Given the description of an element on the screen output the (x, y) to click on. 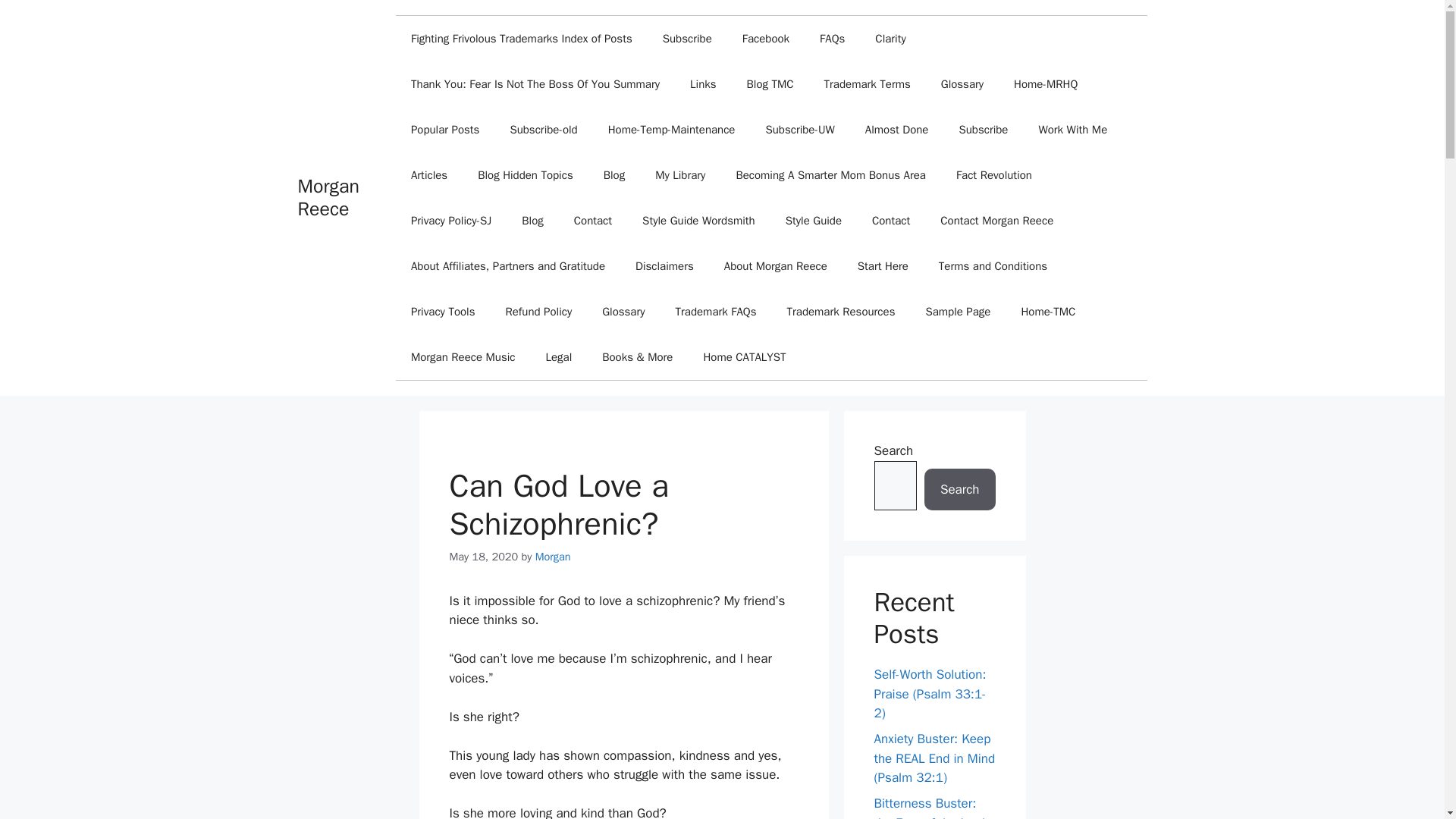
Style Guide (813, 220)
FAQs (832, 38)
Home-MRHQ (1045, 84)
Contact (890, 220)
Terms and Conditions (992, 266)
Trademark Terms (867, 84)
Contact (593, 220)
My Library (680, 175)
Privacy Policy-SJ (451, 220)
Work With Me (1072, 129)
Morgan Reece (327, 197)
Links (702, 84)
Almost Done (896, 129)
Popular Posts (445, 129)
Becoming A Smarter Mom Bonus Area (830, 175)
